Given the description of an element on the screen output the (x, y) to click on. 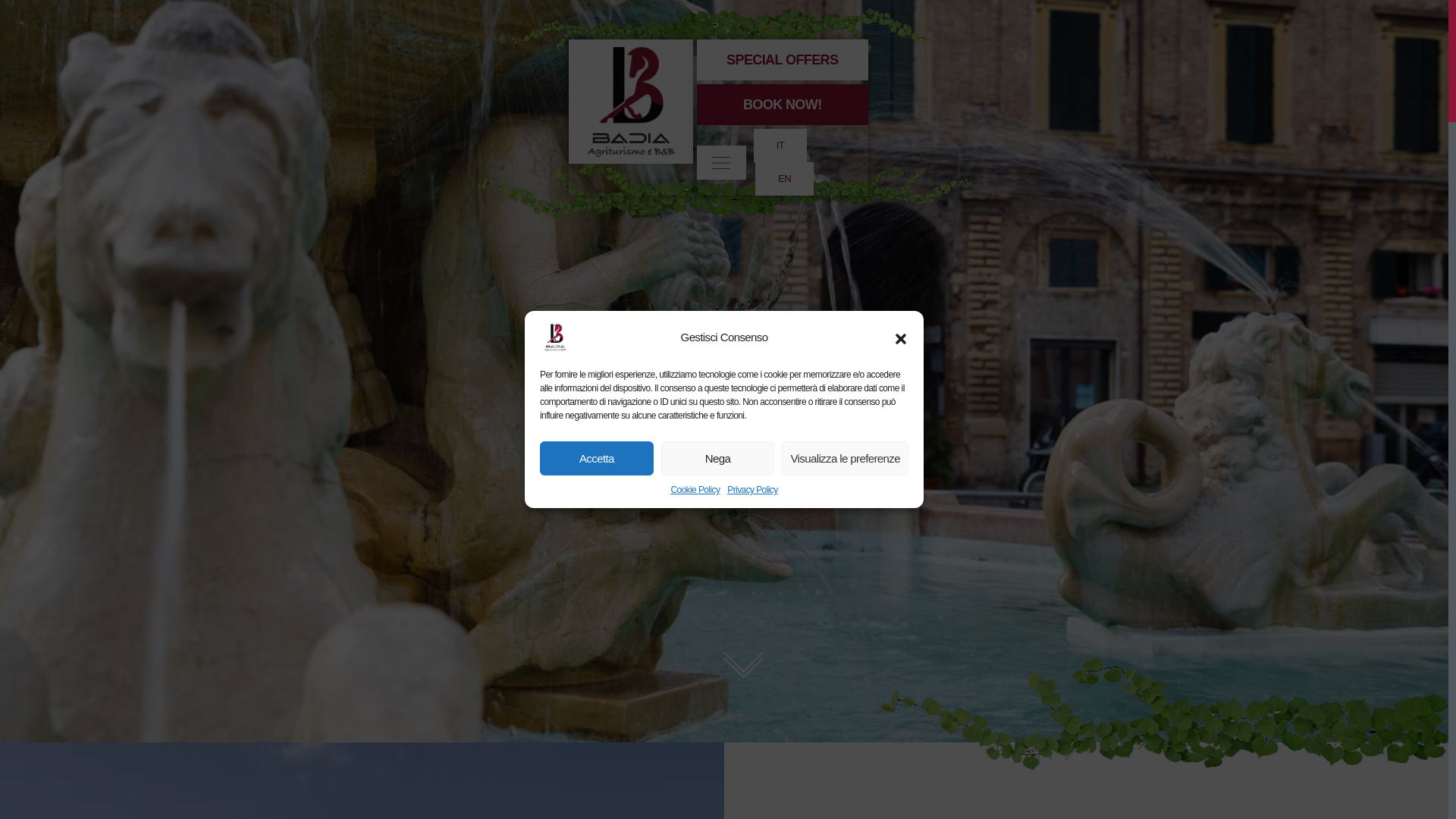
Privacy Policy (751, 489)
Cookie Policy (694, 489)
EN (784, 178)
Nega (717, 458)
gostart (742, 664)
Visualizza le preferenze (844, 458)
IT (780, 145)
Accetta (596, 458)
